Given the description of an element on the screen output the (x, y) to click on. 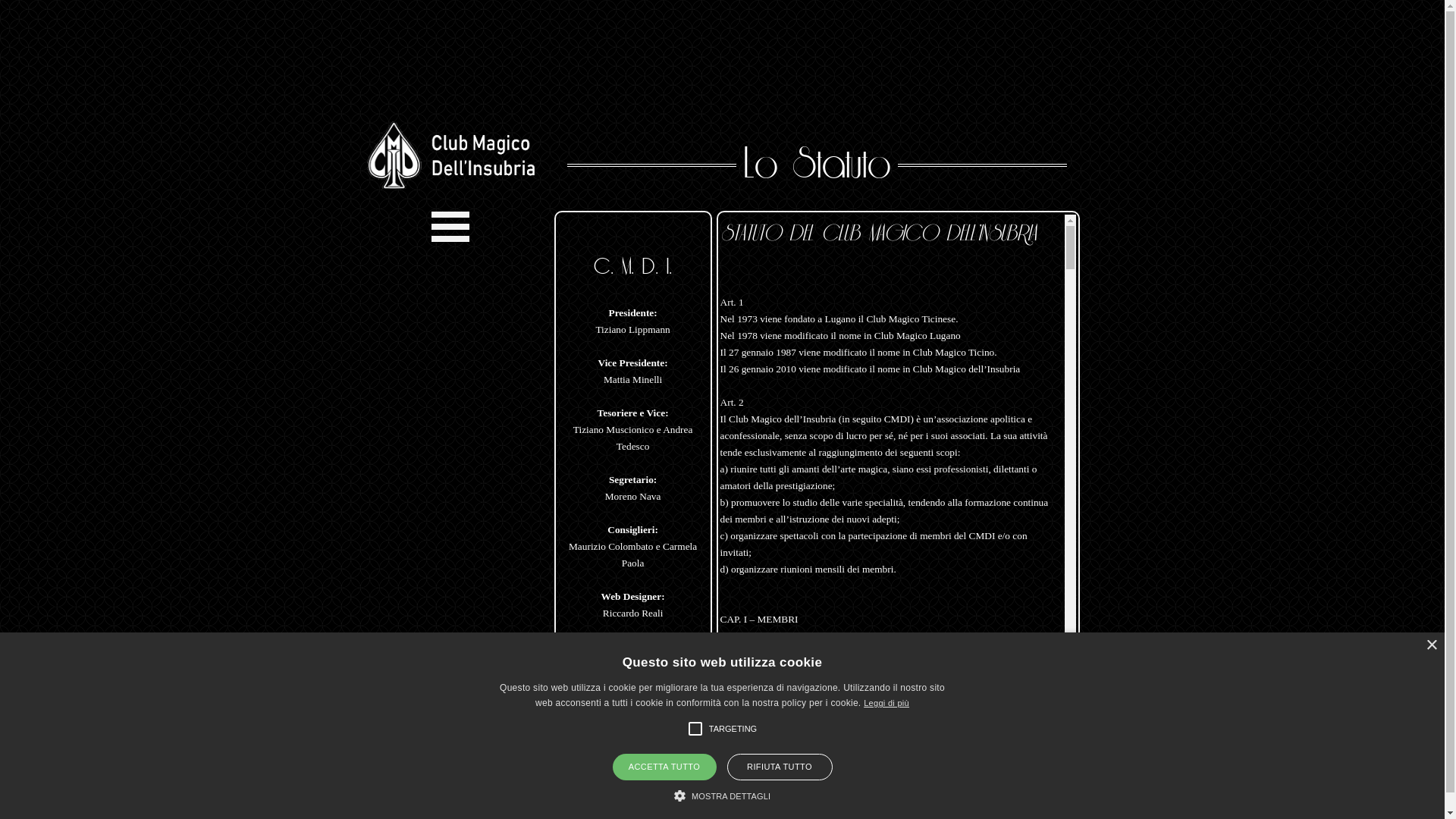
Ilmagodel.com Element type: text (772, 809)
